Given the description of an element on the screen output the (x, y) to click on. 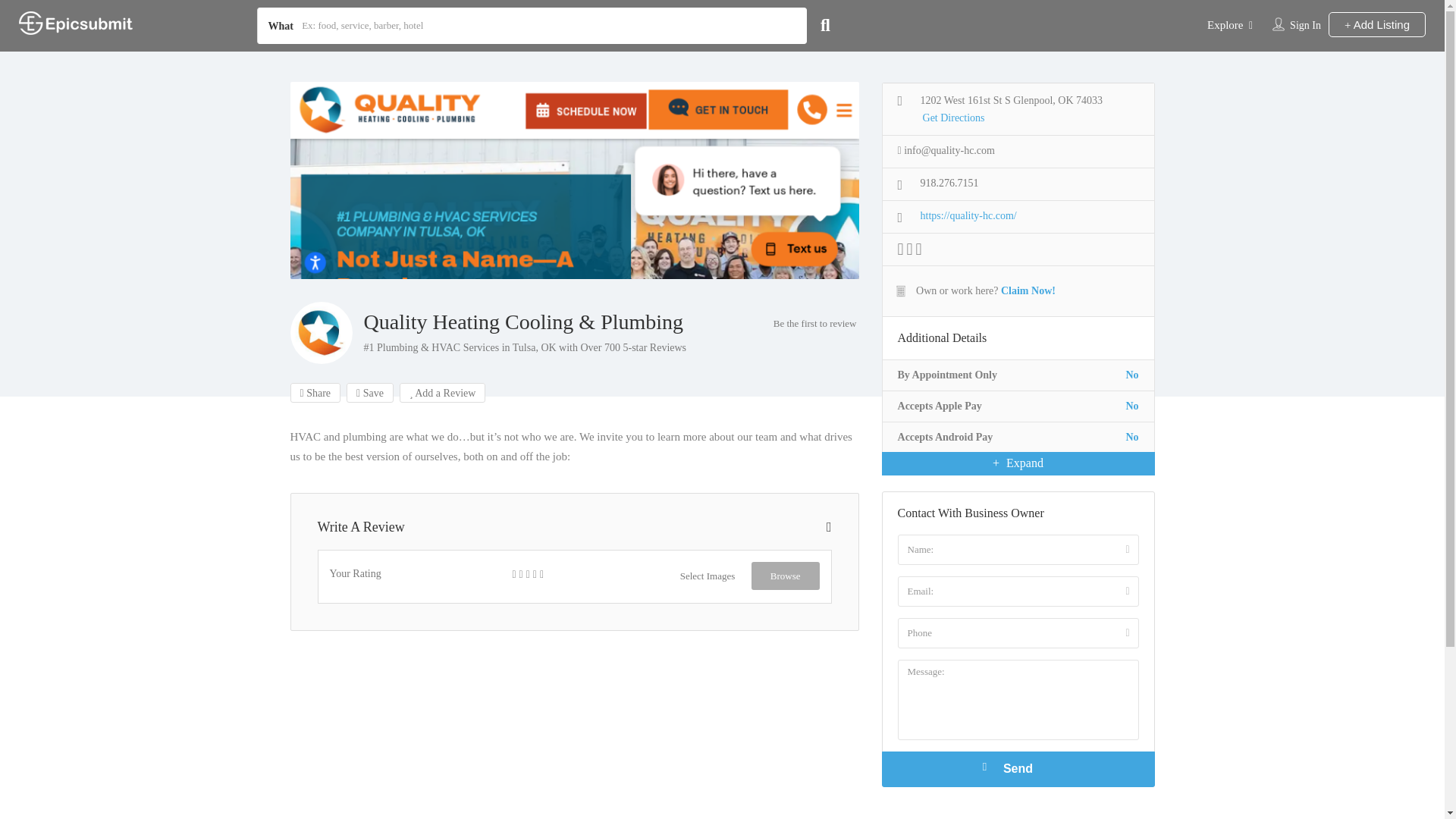
Send (1018, 769)
